Given the description of an element on the screen output the (x, y) to click on. 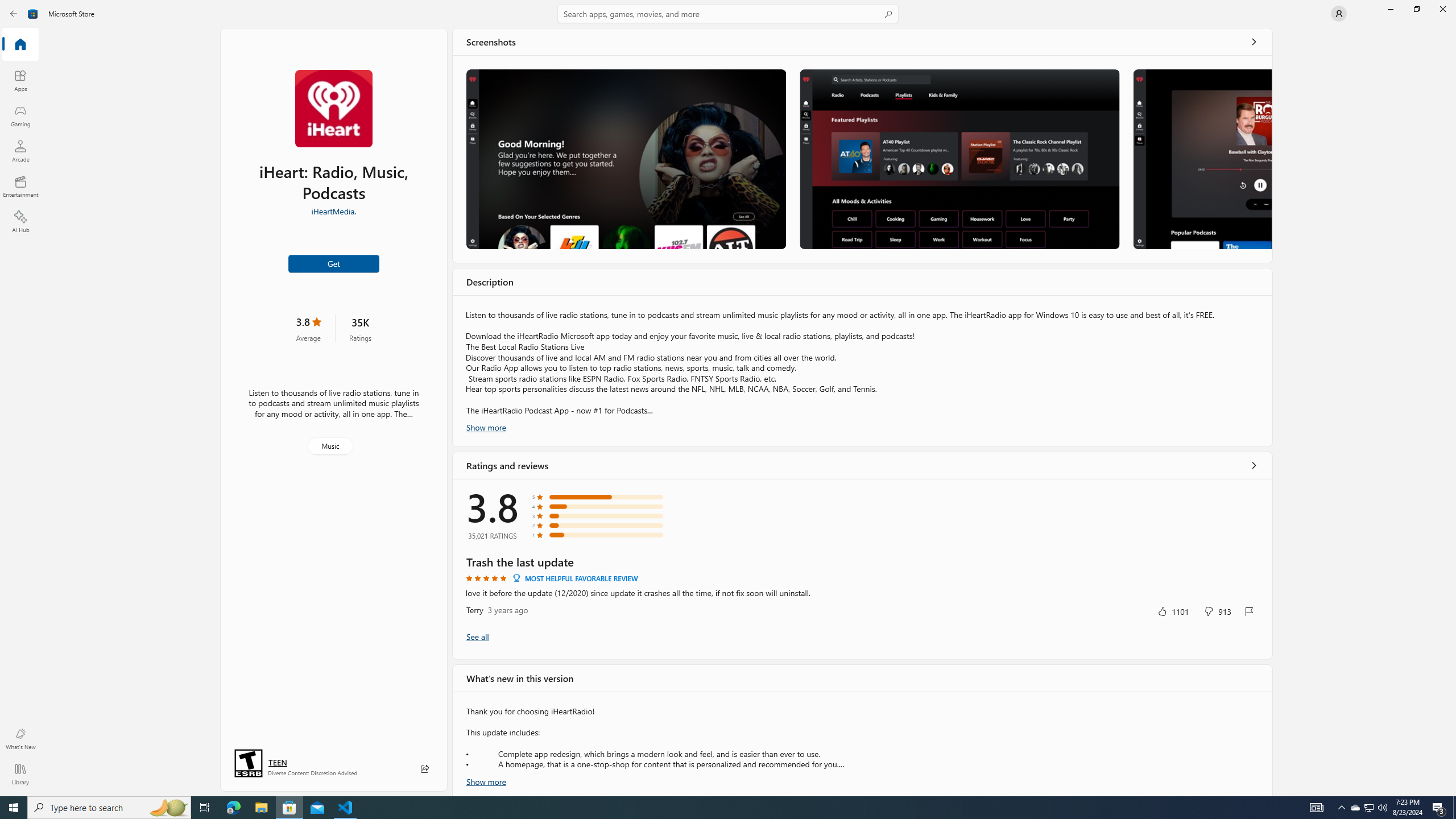
Show all ratings and reviews (477, 636)
Share (424, 769)
Restore Microsoft Store (1416, 9)
User profile (1338, 13)
No, this was not helpful. 913 votes. (1217, 610)
AutomationID: NavigationControl (728, 398)
Home (20, 45)
Close Microsoft Store (1442, 9)
AI Hub (20, 221)
3.8 stars. Click to skip to ratings and reviews (307, 328)
Gaming (20, 115)
Show more (485, 780)
Search (727, 13)
